Given the description of an element on the screen output the (x, y) to click on. 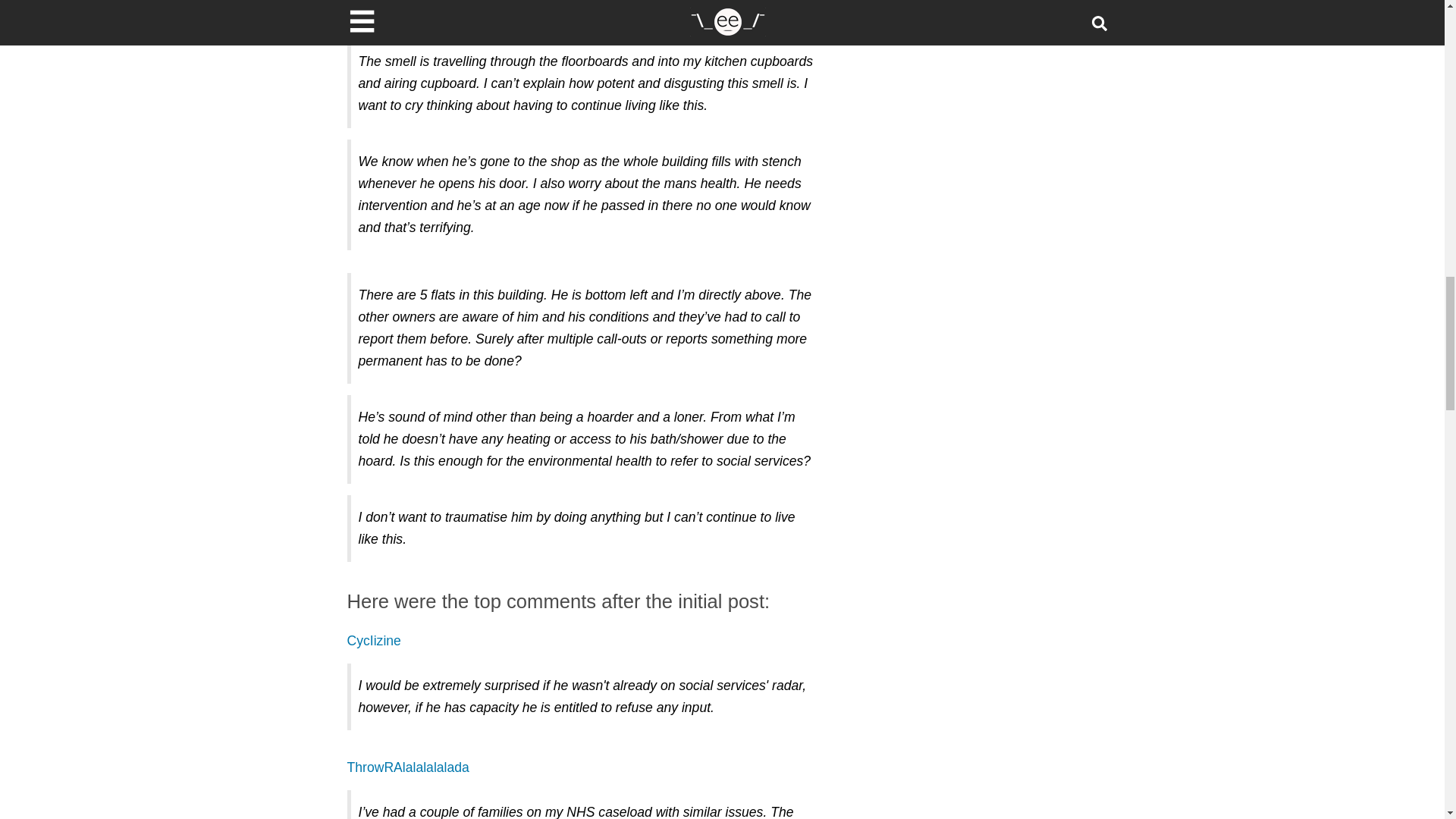
ThrowRAlalalalalada (407, 767)
CycIizine (374, 640)
